Given the description of an element on the screen output the (x, y) to click on. 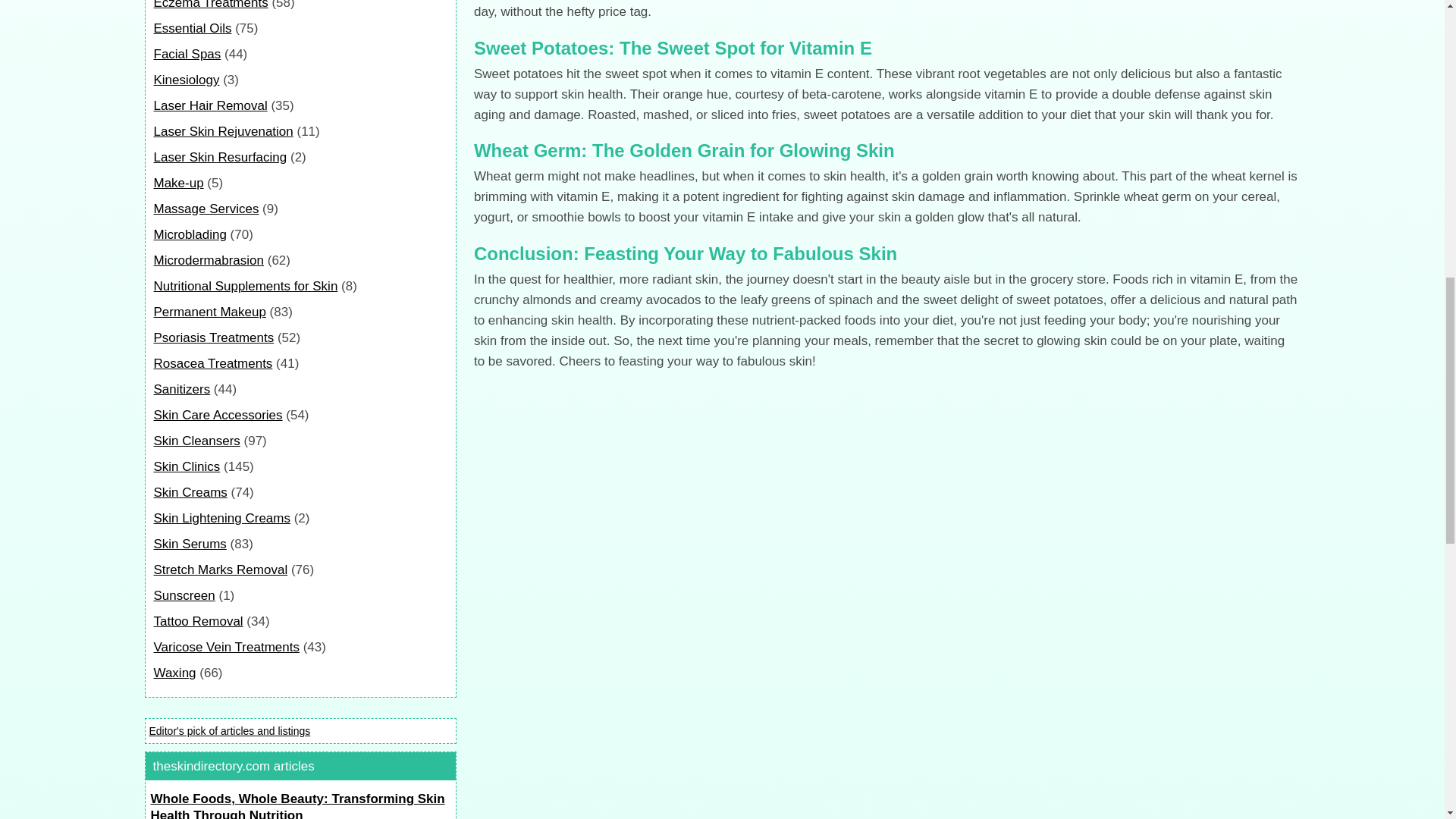
Eczema Treatments (209, 4)
Make-up (177, 183)
Kinesiology (185, 79)
Massage Services (205, 208)
Laser Skin Resurfacing (219, 156)
Facial Spas (186, 53)
Laser Hair Removal (209, 105)
Essential Oils (191, 28)
Laser Skin Rejuvenation (222, 131)
